Given the description of an element on the screen output the (x, y) to click on. 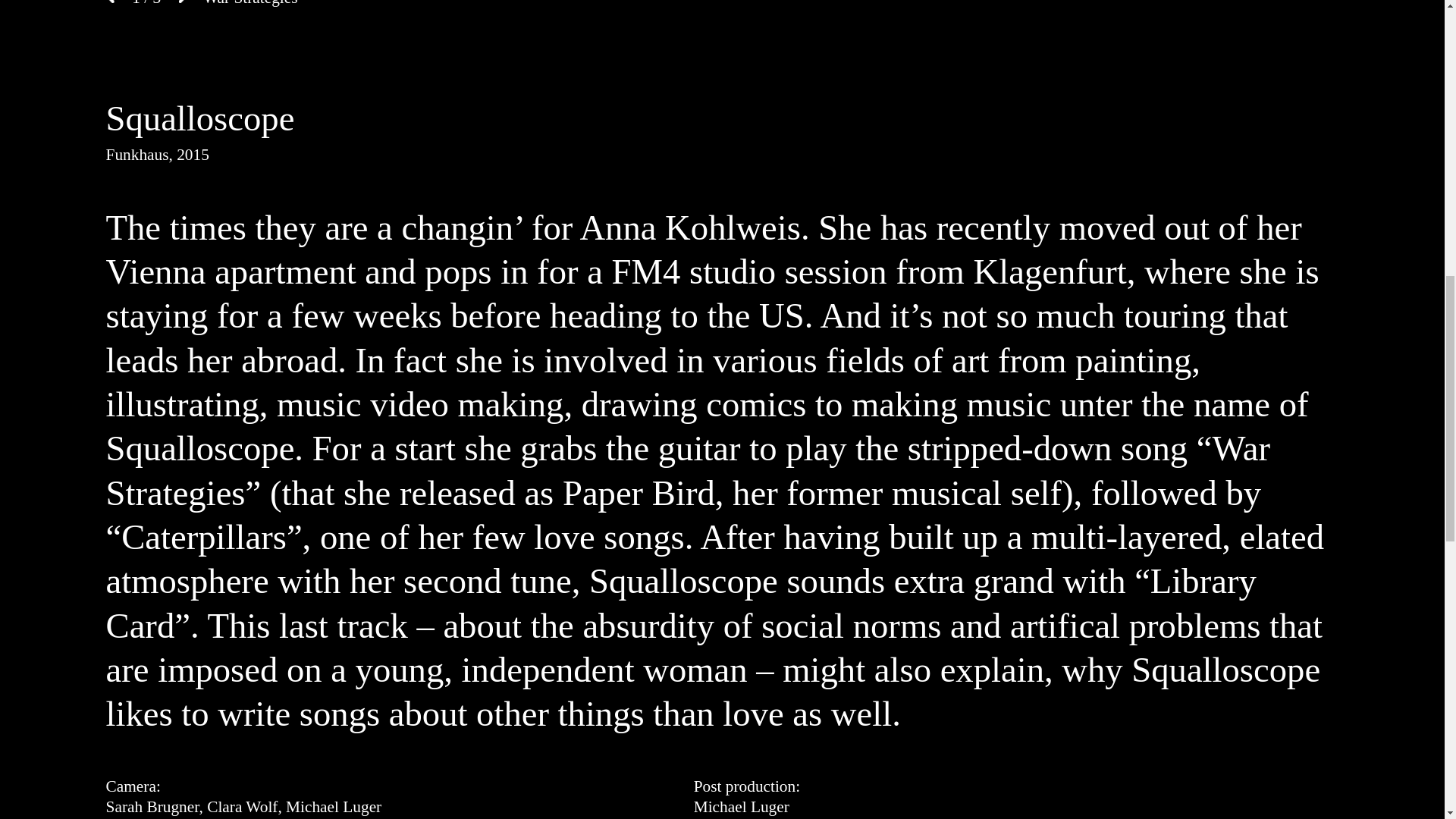
next (181, 4)
previous (111, 4)
